Given the description of an element on the screen output the (x, y) to click on. 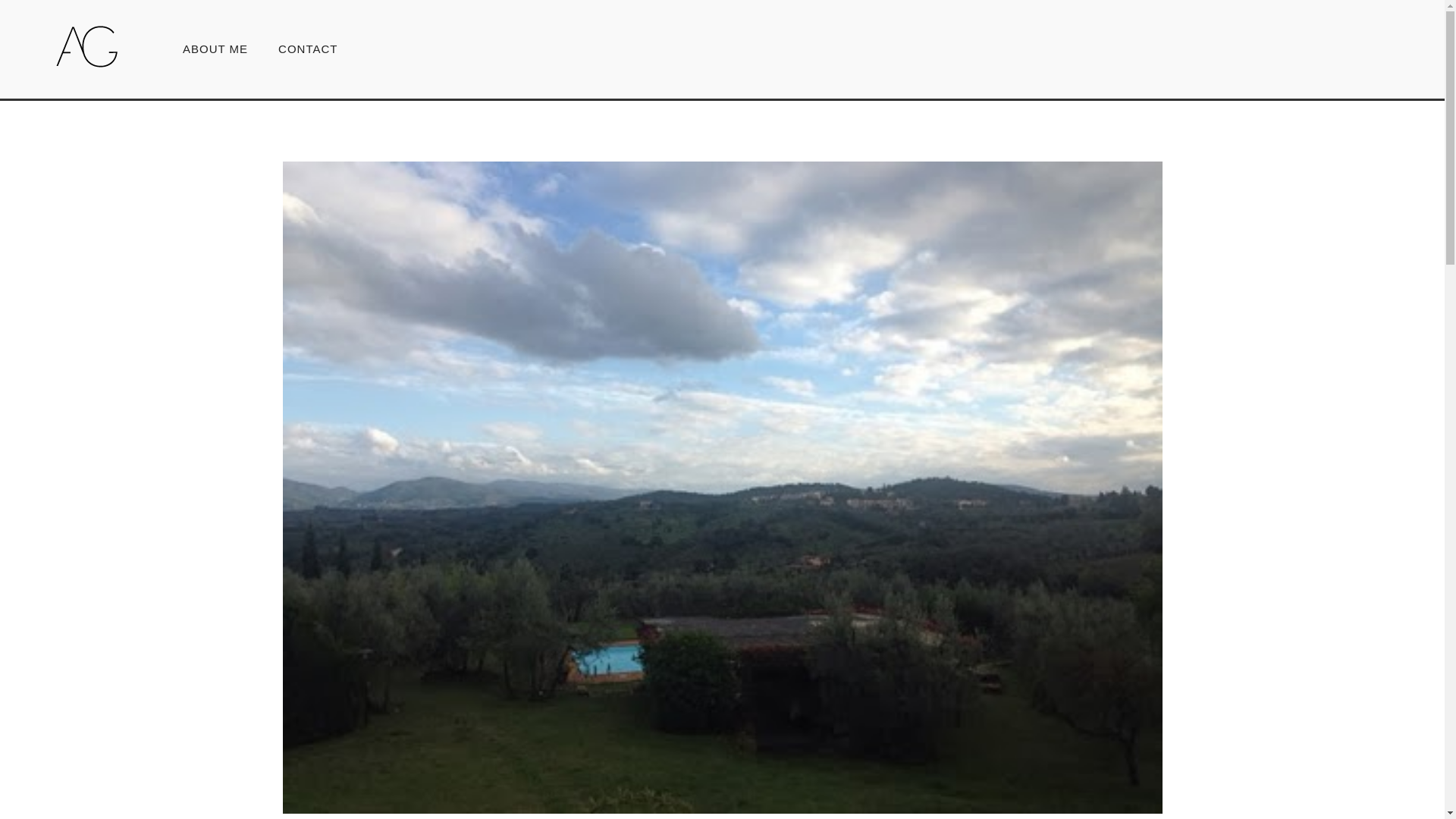
CONTACT (300, 48)
ABOUT ME (215, 48)
